Given the description of an element on the screen output the (x, y) to click on. 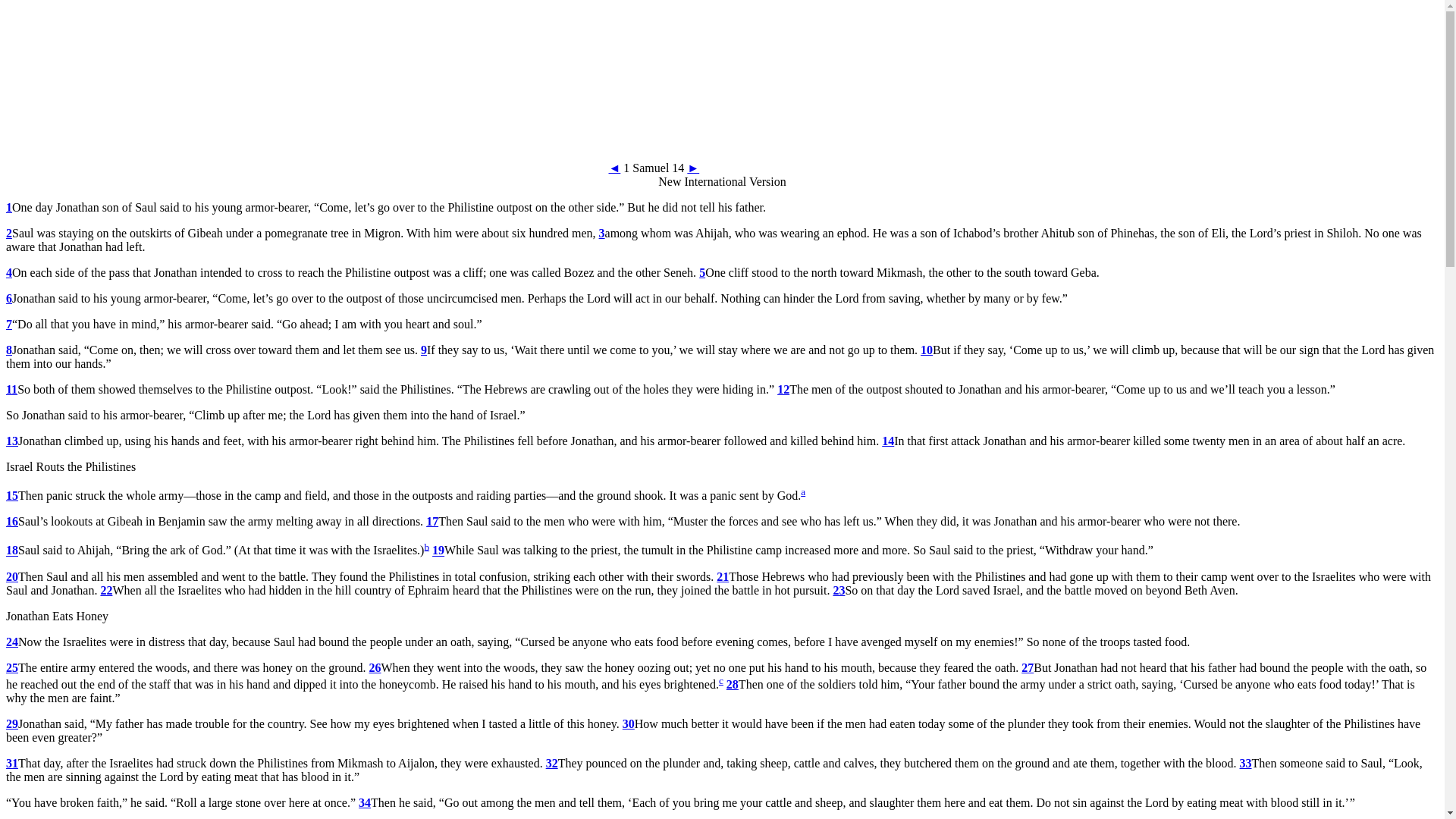
12 (783, 389)
13 (11, 440)
16 (11, 521)
17 (432, 521)
14 (887, 440)
19 (438, 550)
22 (106, 590)
10 (926, 349)
15 (11, 495)
24 (11, 641)
25 (11, 667)
18 (11, 550)
34 (364, 802)
1 Samuel 15 (692, 167)
21 (722, 576)
